Given the description of an element on the screen output the (x, y) to click on. 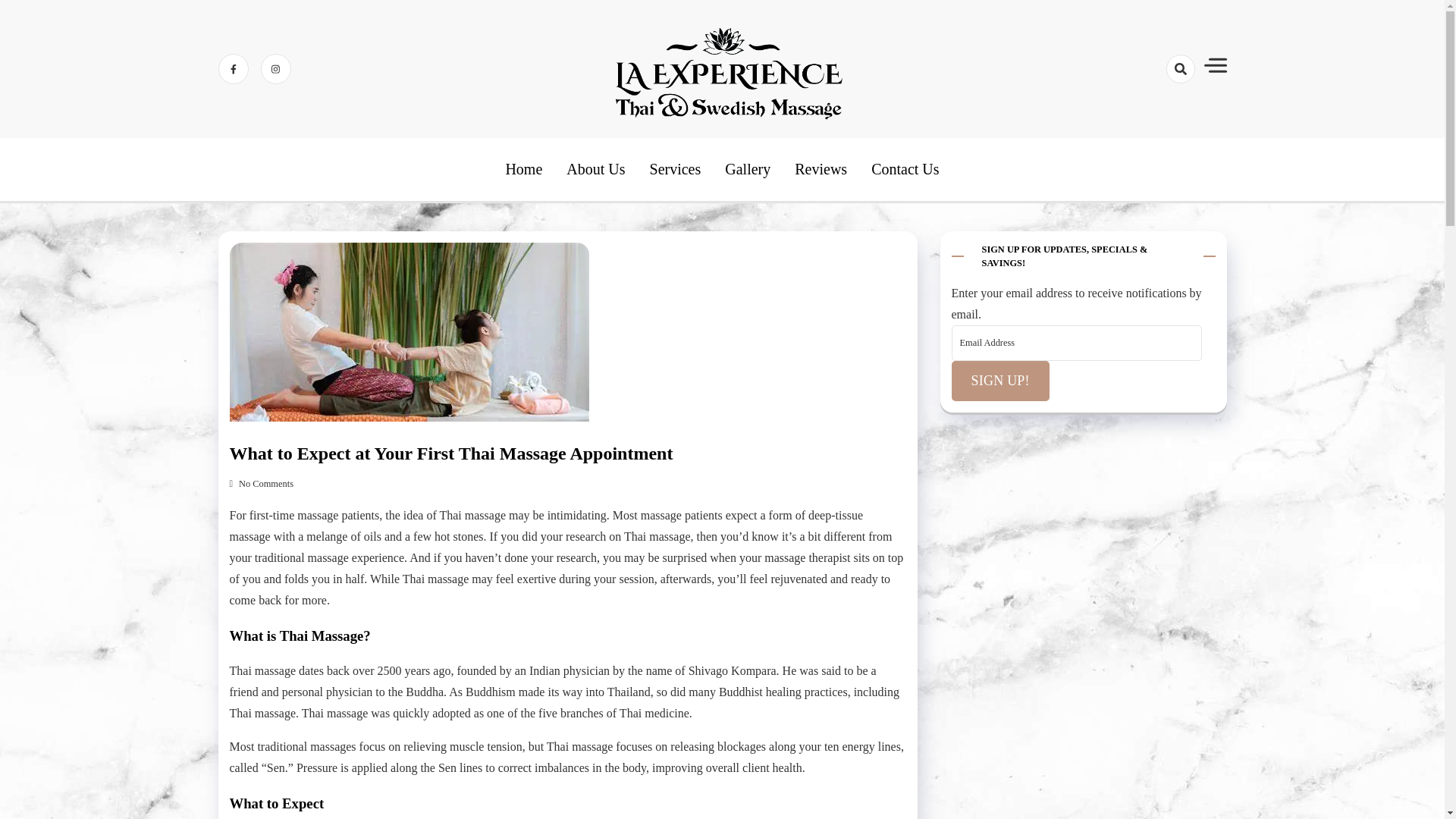
About Us (595, 169)
Search (1152, 122)
SIGN UP! (999, 381)
No Comments (260, 483)
La Experience (745, 156)
Contact Us (904, 169)
